Given the description of an element on the screen output the (x, y) to click on. 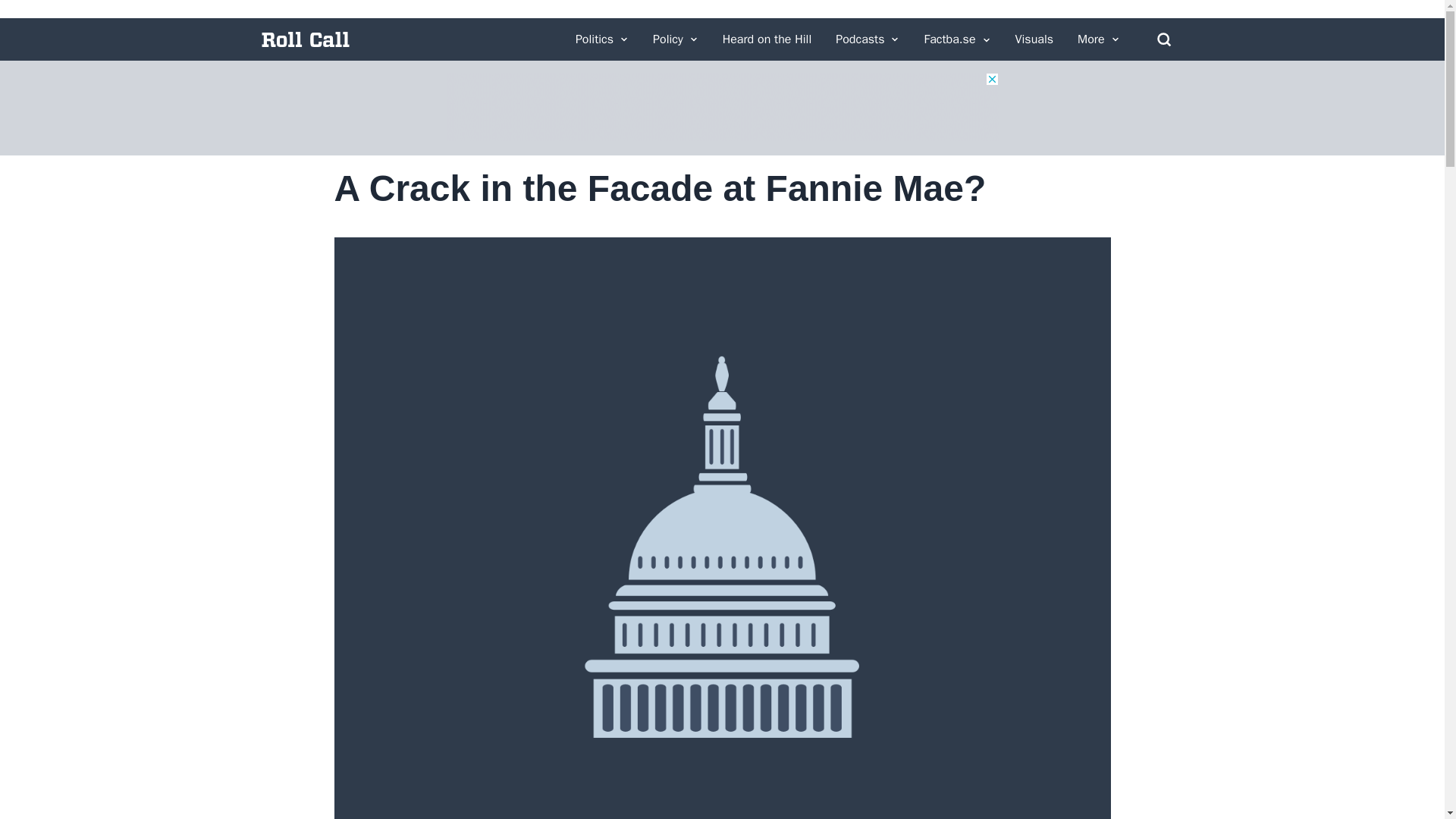
3rd party ad content (721, 106)
